Given the description of an element on the screen output the (x, y) to click on. 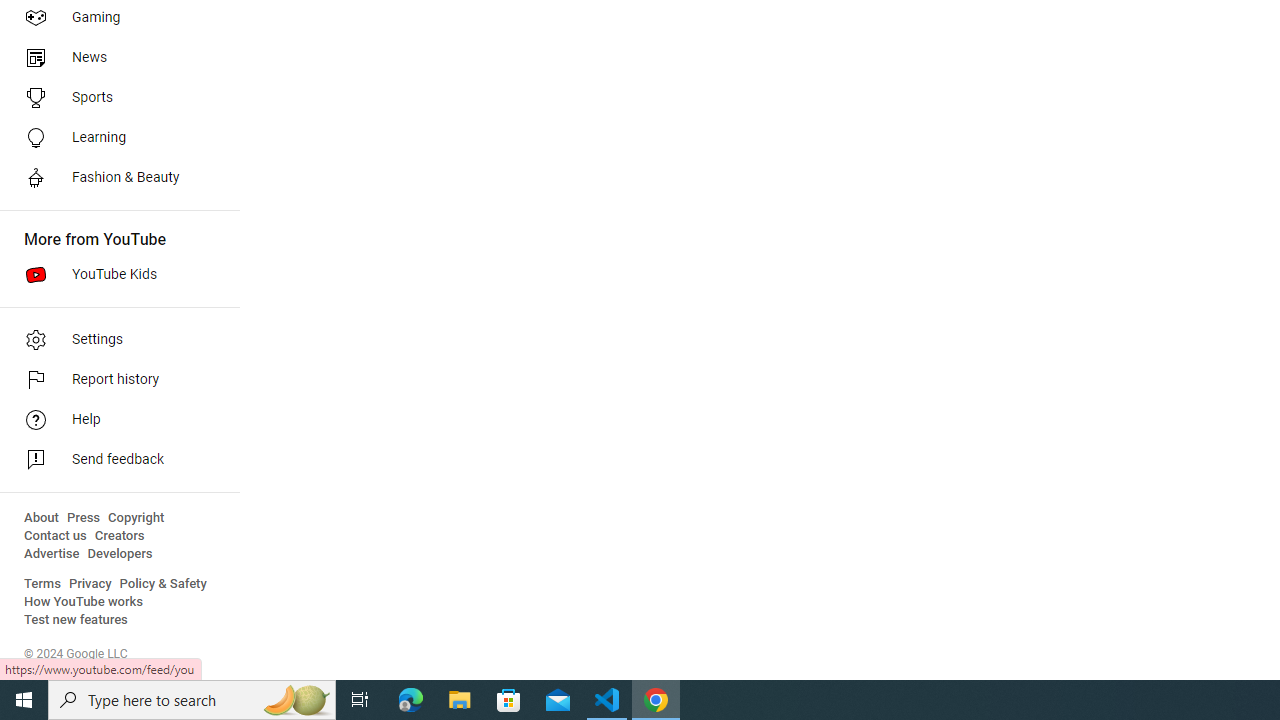
Report history (113, 380)
Sports (113, 97)
Advertise (51, 554)
Fashion & Beauty (113, 177)
YouTube Kids (113, 274)
Contact us (55, 536)
Policy & Safety (163, 584)
Developers (120, 554)
Press (83, 518)
About (41, 518)
News (113, 57)
Test new features (76, 620)
